Given the description of an element on the screen output the (x, y) to click on. 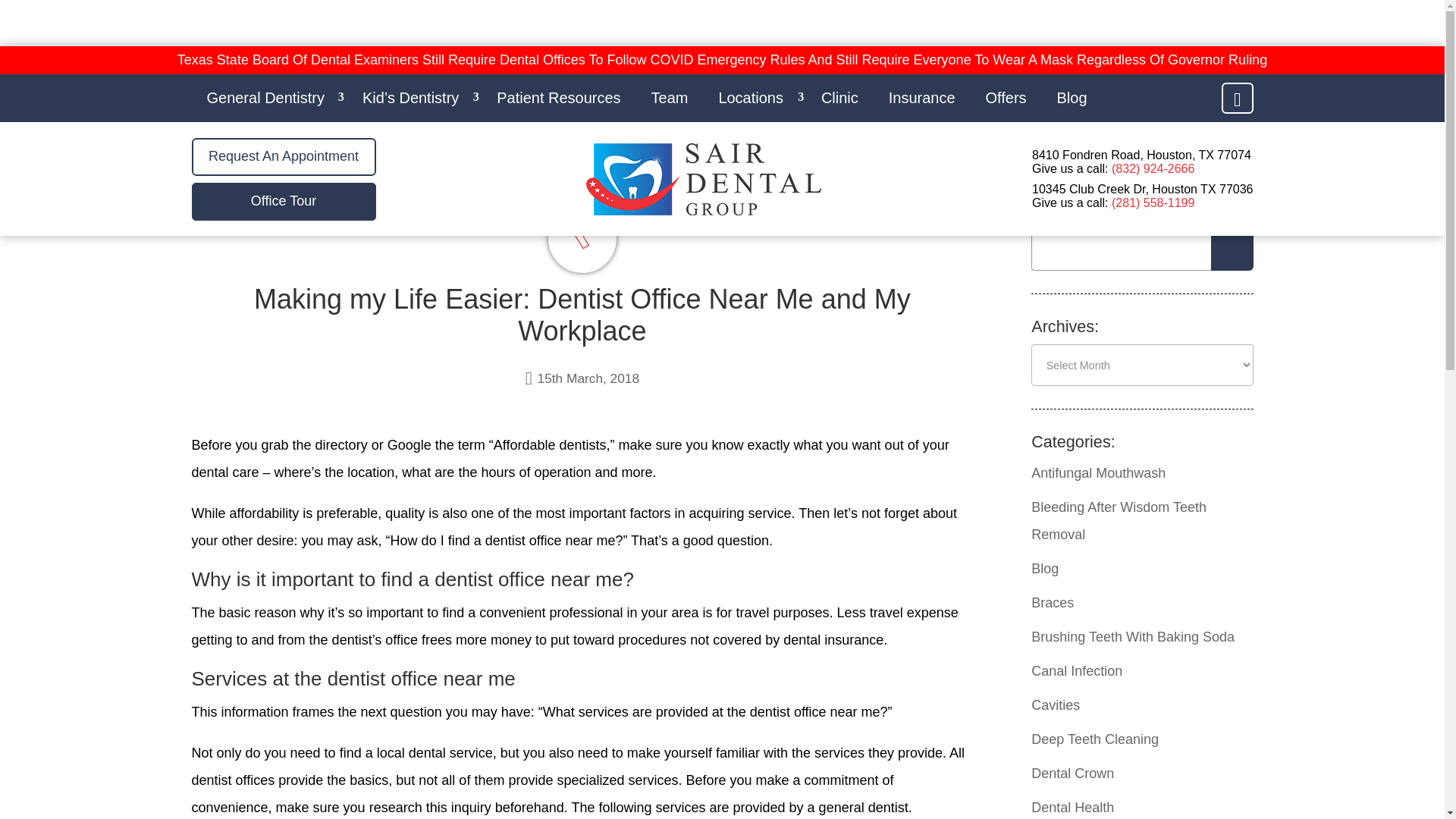
Blog (1072, 98)
Search (1231, 250)
Offers (1006, 98)
Team (669, 98)
Patient Resources (557, 98)
Locations (754, 98)
Clinic (839, 98)
General Dentistry (268, 98)
Insurance (922, 98)
